Given the description of an element on the screen output the (x, y) to click on. 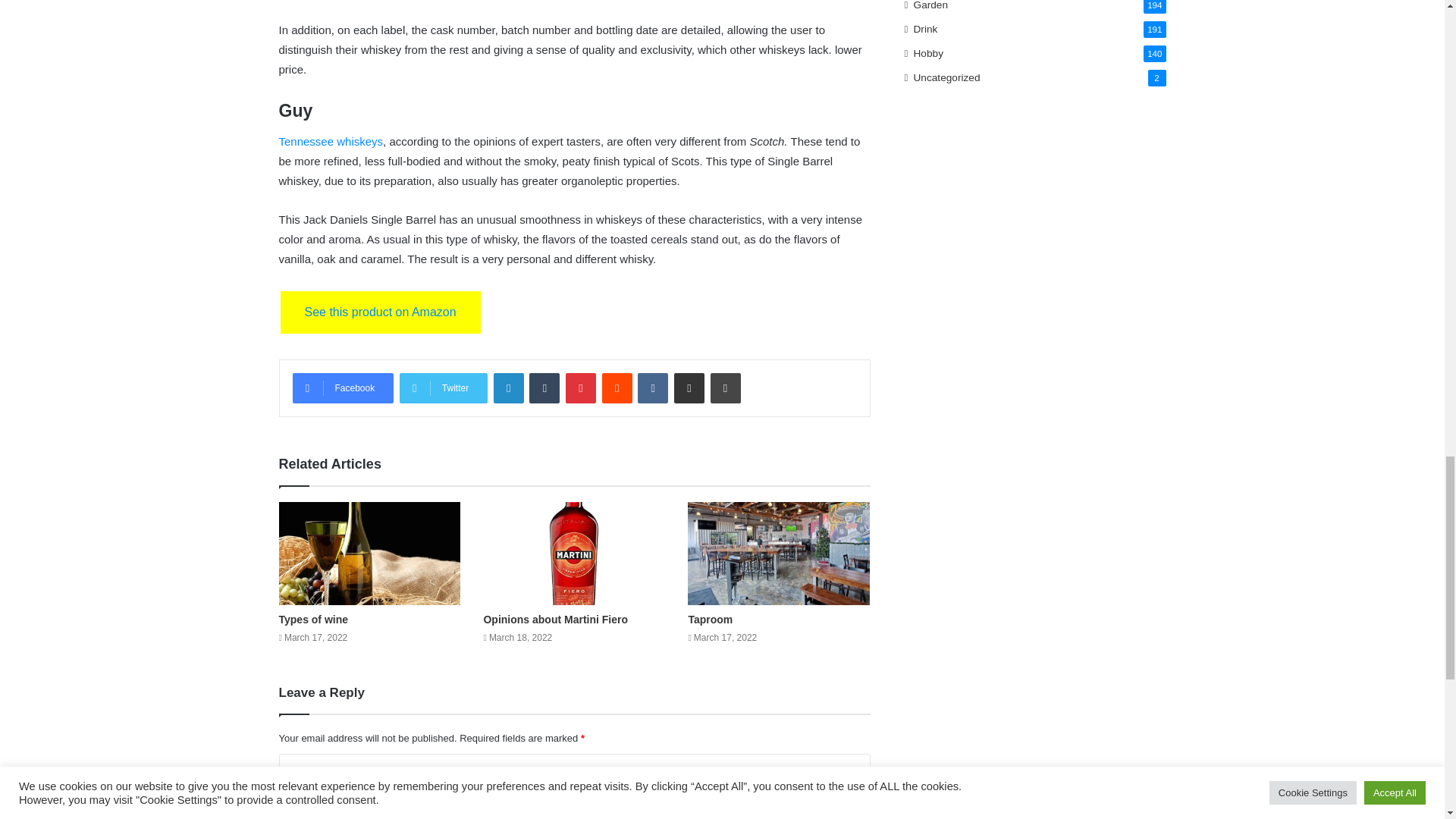
Twitter (442, 388)
Tumblr (544, 388)
Share via Email (689, 388)
Print (725, 388)
Reddit (616, 388)
LinkedIn (508, 388)
Twitter (442, 388)
Facebook (343, 388)
LinkedIn (508, 388)
Share via Email (689, 388)
